Given the description of an element on the screen output the (x, y) to click on. 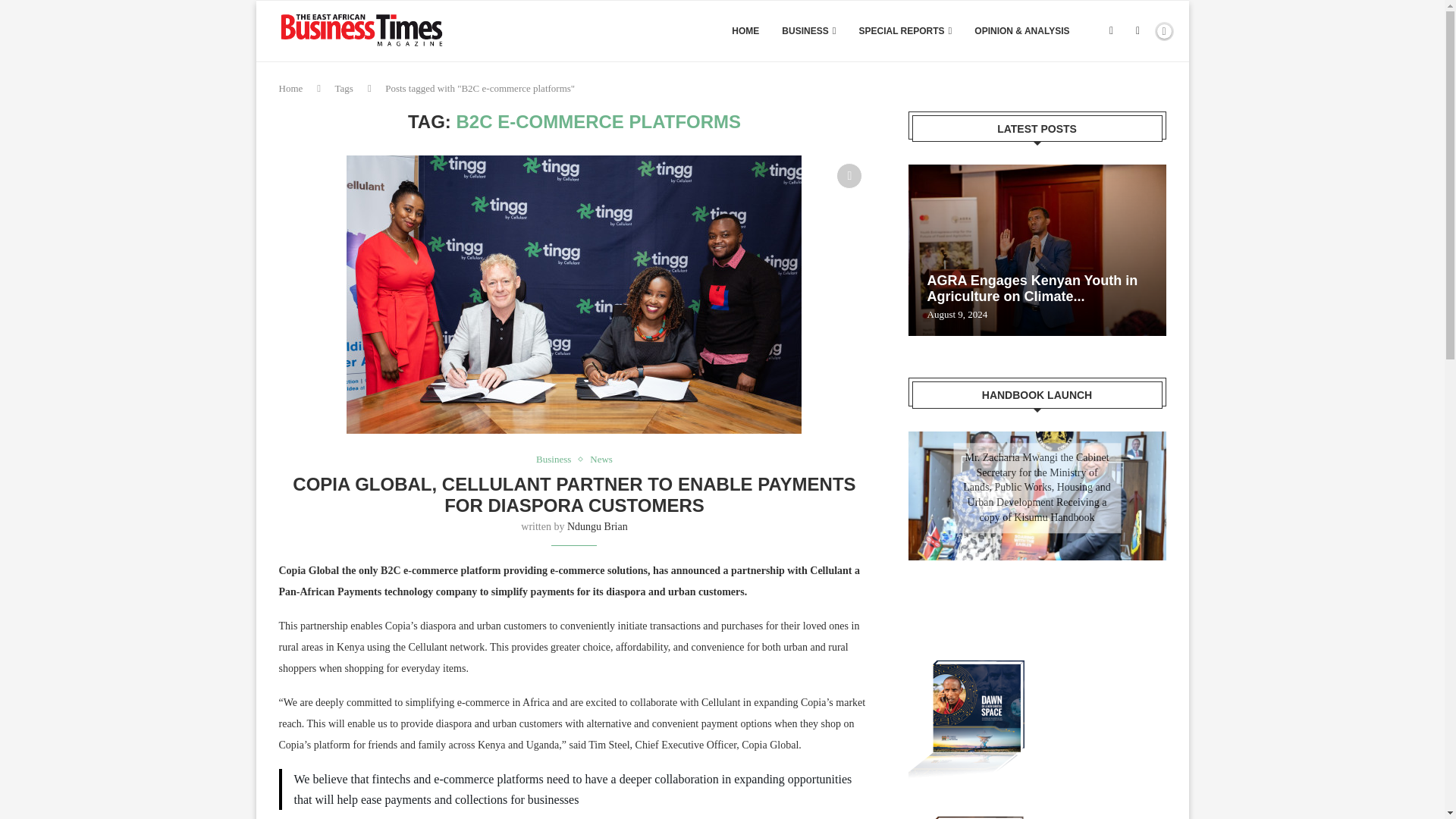
Business (556, 459)
Home (290, 88)
Bookmark (848, 175)
News (600, 459)
Ndungu Brian (597, 526)
SPECIAL REPORTS (905, 30)
